Given the description of an element on the screen output the (x, y) to click on. 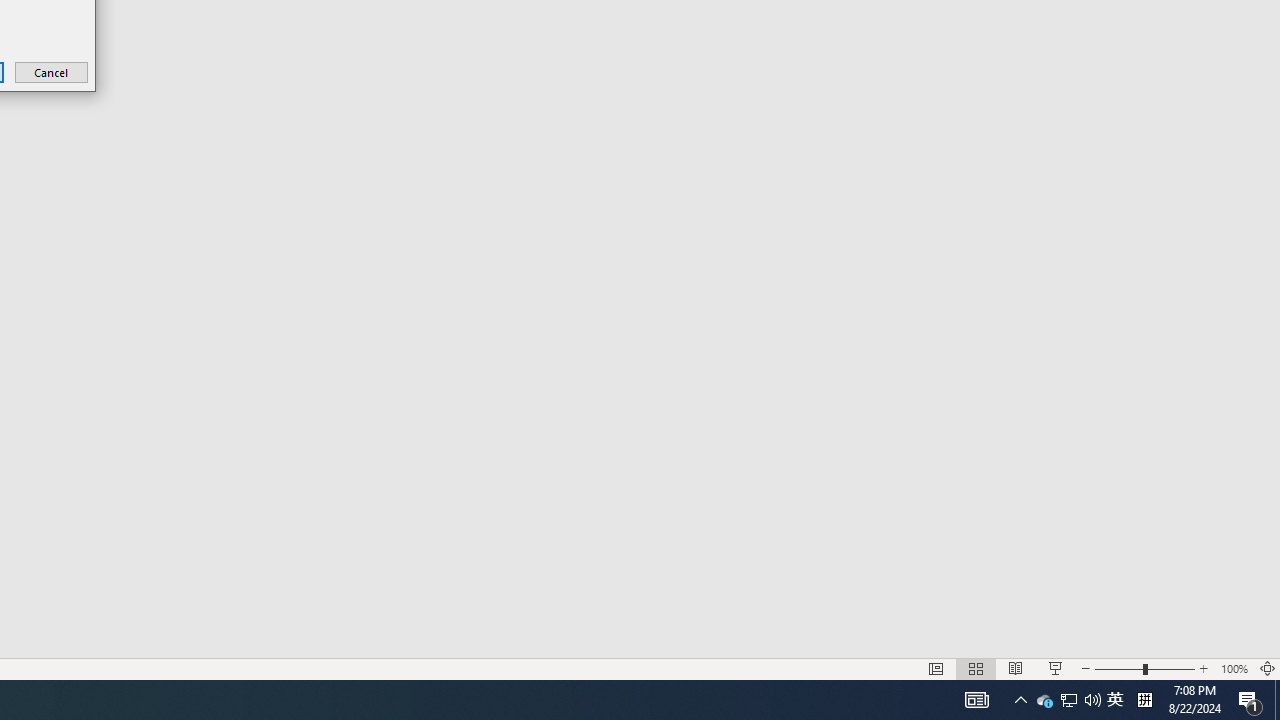
Zoom 100% (1234, 668)
